Given the description of an element on the screen output the (x, y) to click on. 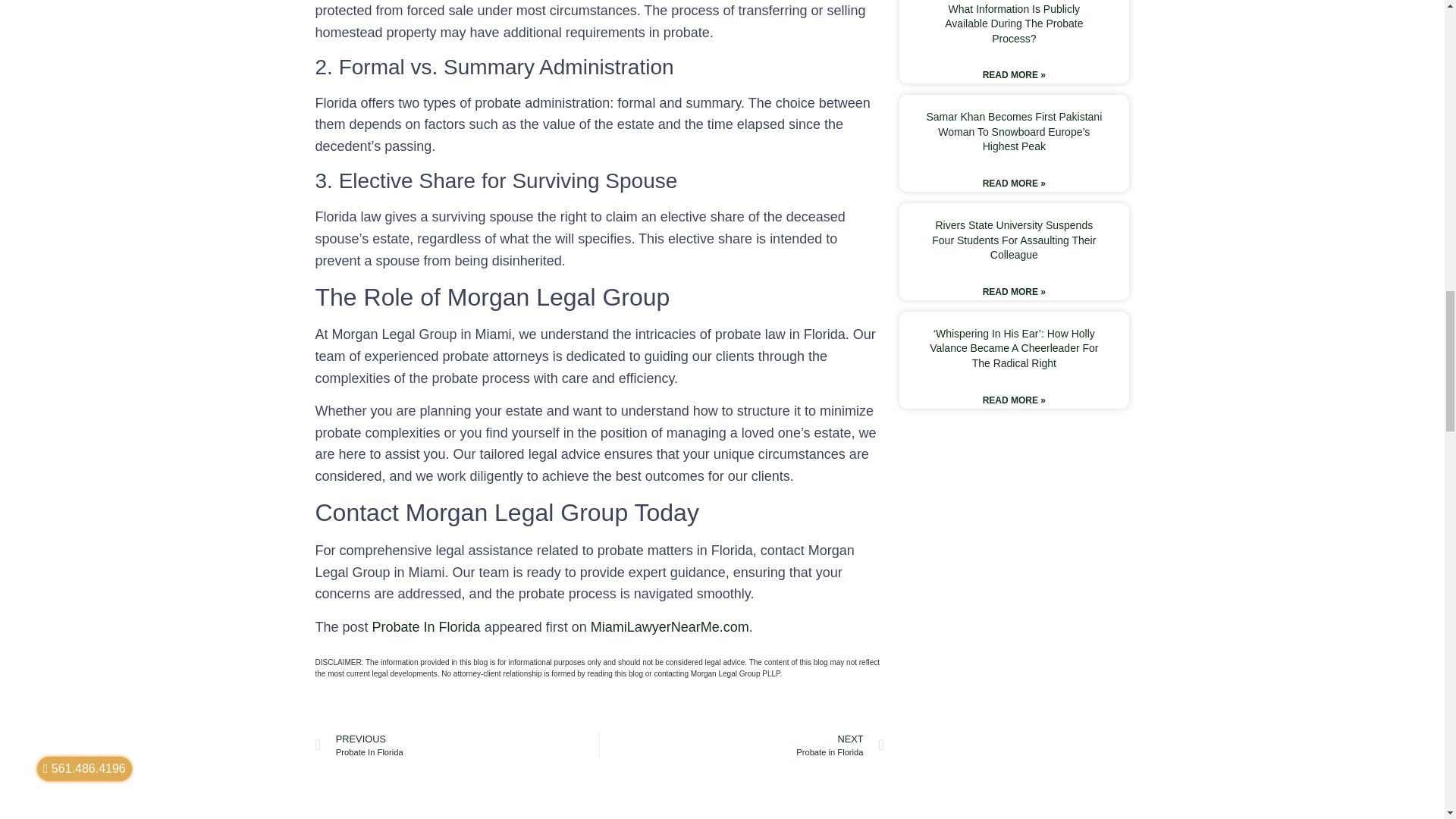
Probate In Florida (426, 626)
MiamiLawyerNearMe.com (670, 626)
